Given the description of an element on the screen output the (x, y) to click on. 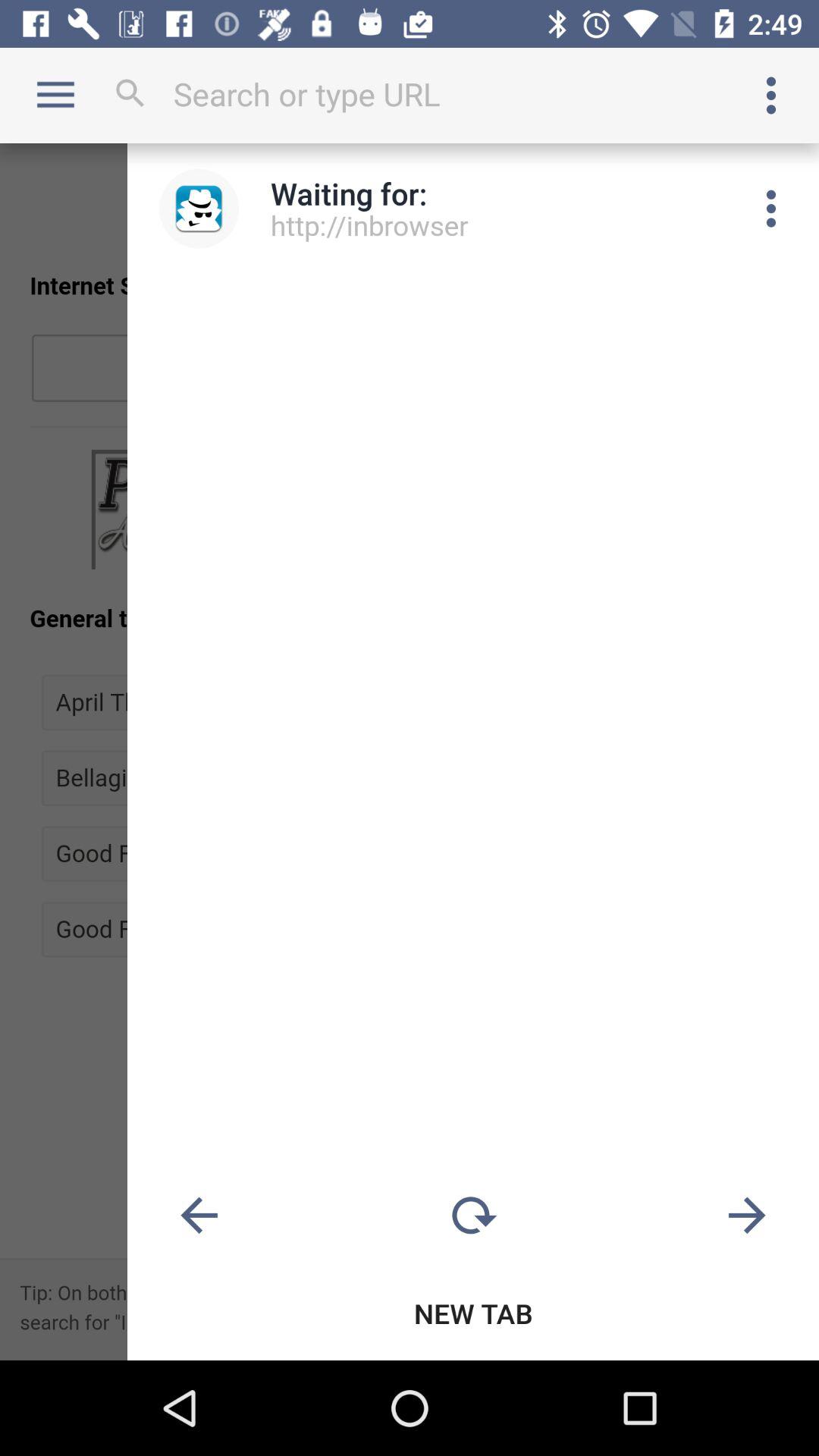
swipe to the http://inbrowser item (369, 224)
